Given the description of an element on the screen output the (x, y) to click on. 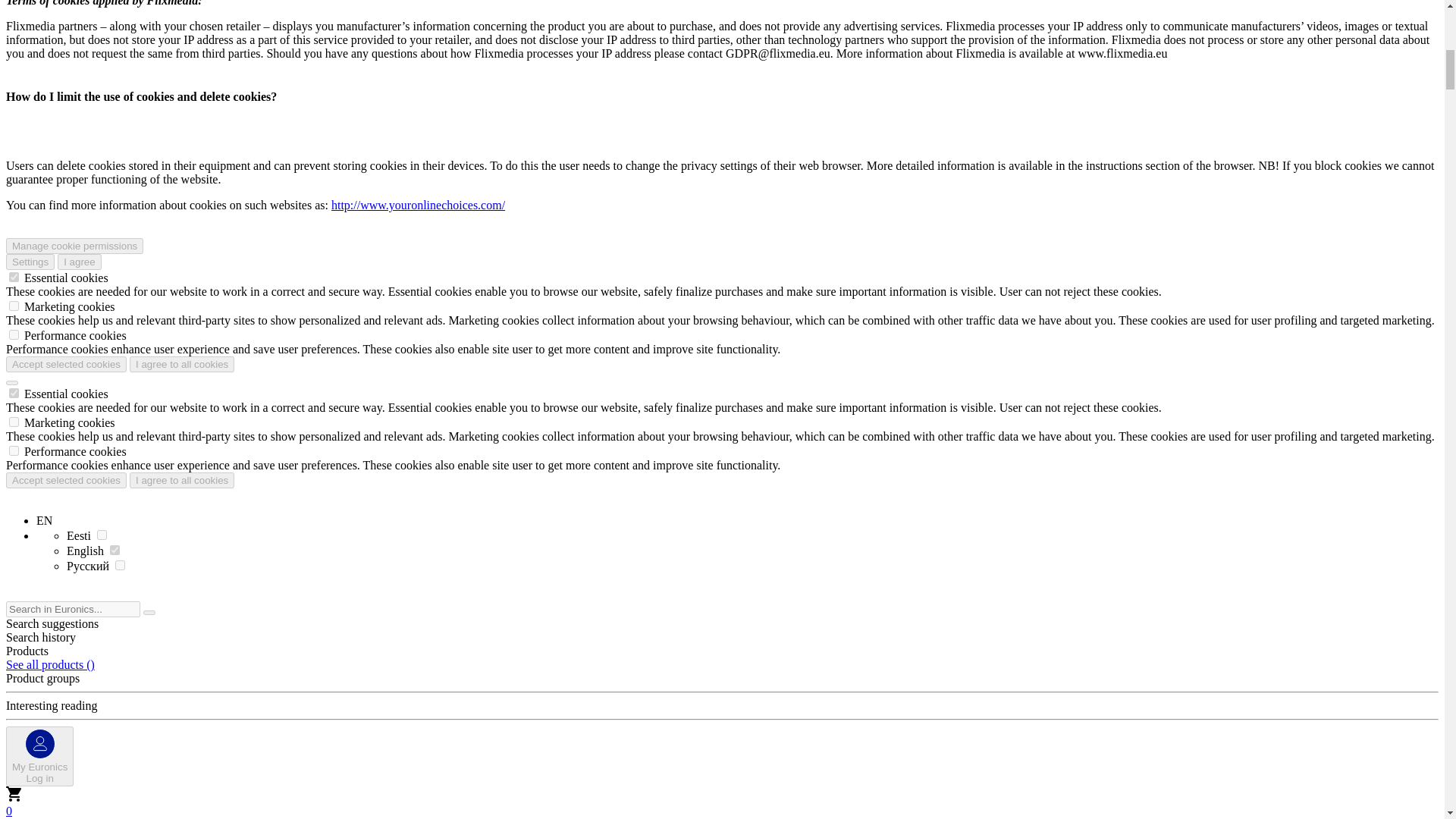
Accept selected cookies (65, 364)
on (13, 276)
I agree (39, 756)
on (79, 261)
on (13, 334)
I agree to all cookies (13, 421)
on (181, 364)
Manage cookie permissions (13, 393)
Settings (73, 245)
